Given the description of an element on the screen output the (x, y) to click on. 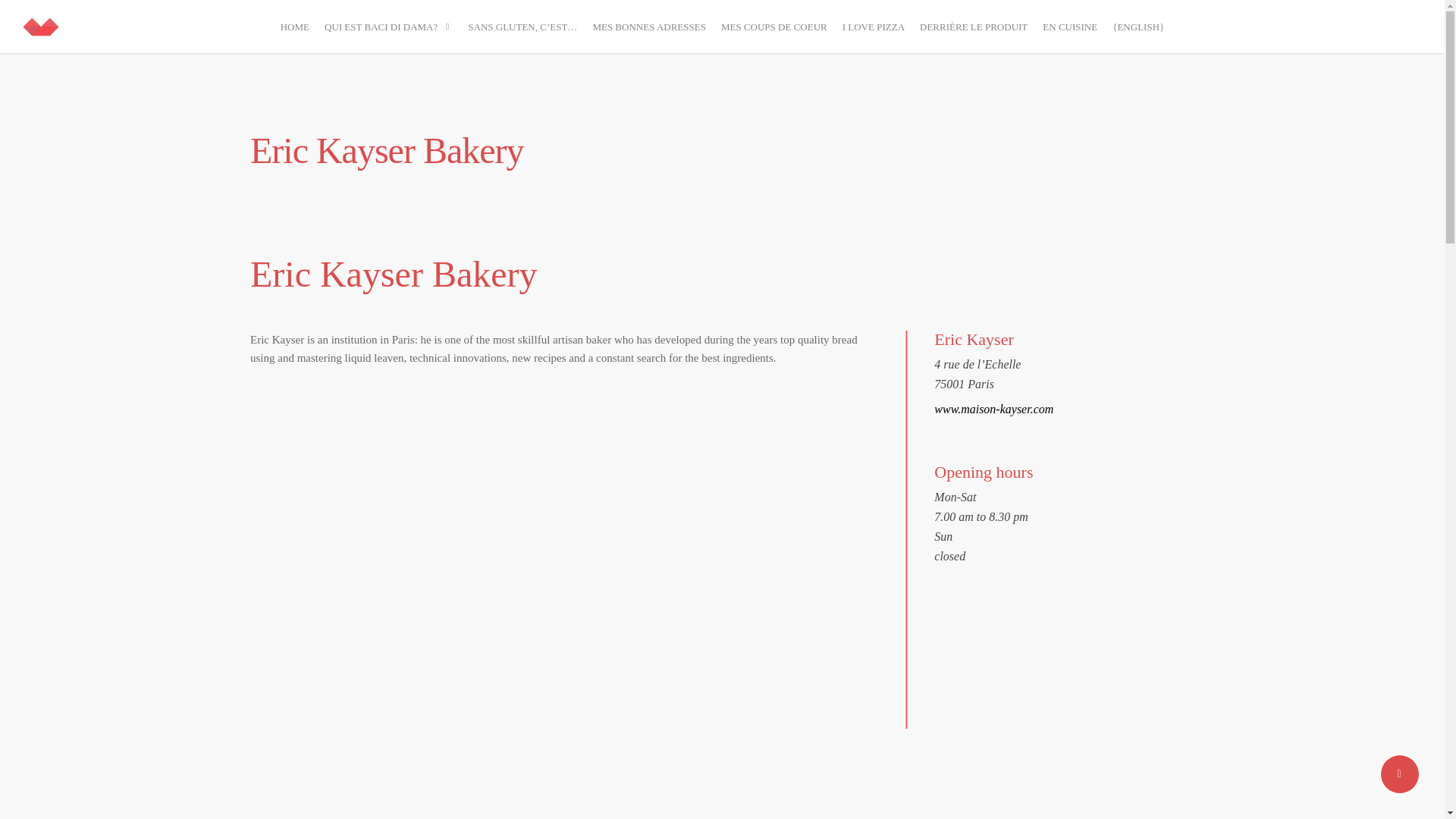
www.maison-kayser.com (993, 408)
MES BONNES ADRESSES (649, 26)
MES COUPS DE COEUR (773, 26)
QUI EST BACI DI DAMA? (388, 26)
EN CUISINE (1070, 26)
I LOVE PIZZA (873, 26)
HOME (295, 26)
